Given the description of an element on the screen output the (x, y) to click on. 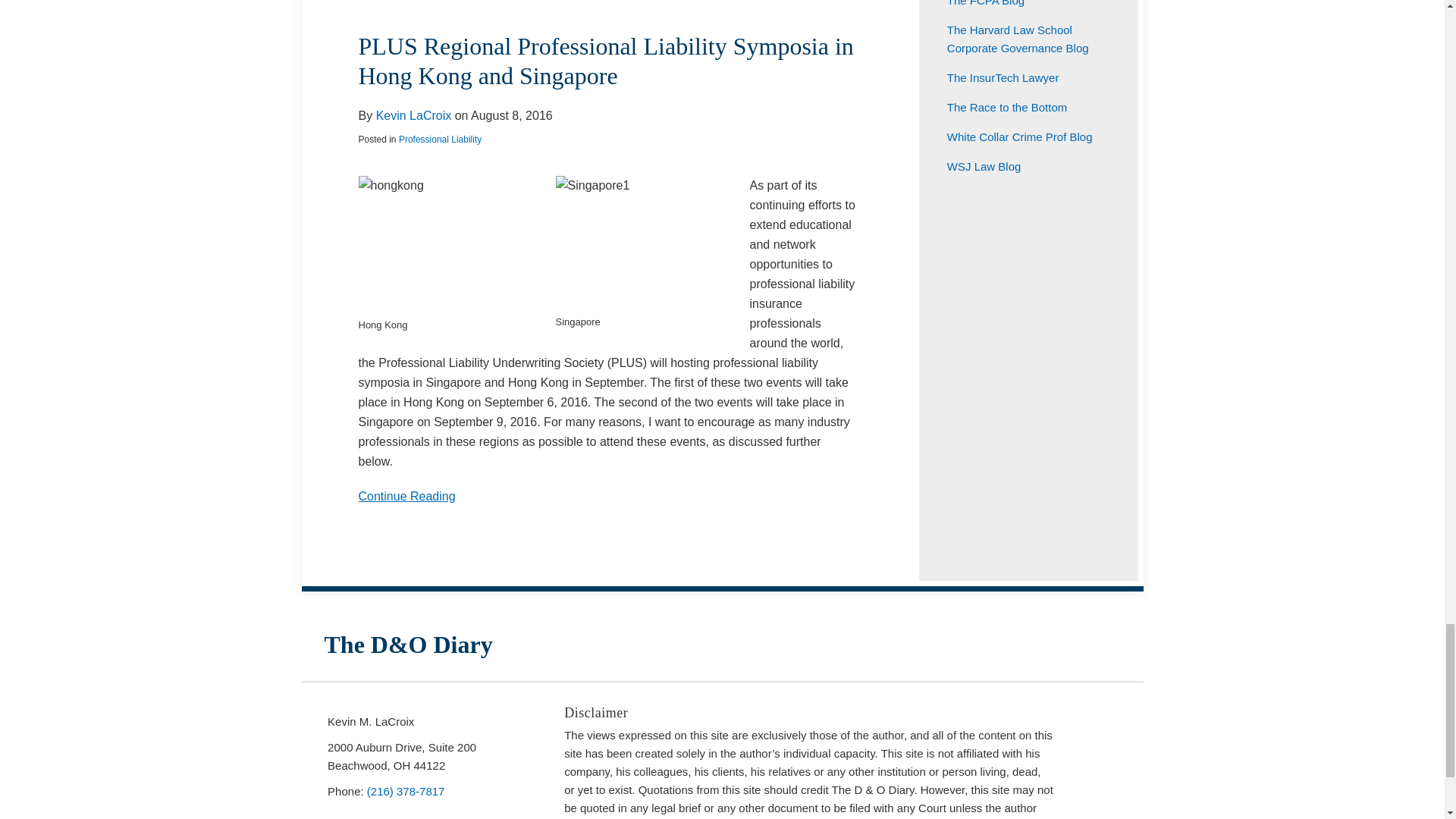
The InsurTech Lawyer (1003, 77)
Professional Liability (439, 139)
Kevin LaCroix (413, 115)
